Given the description of an element on the screen output the (x, y) to click on. 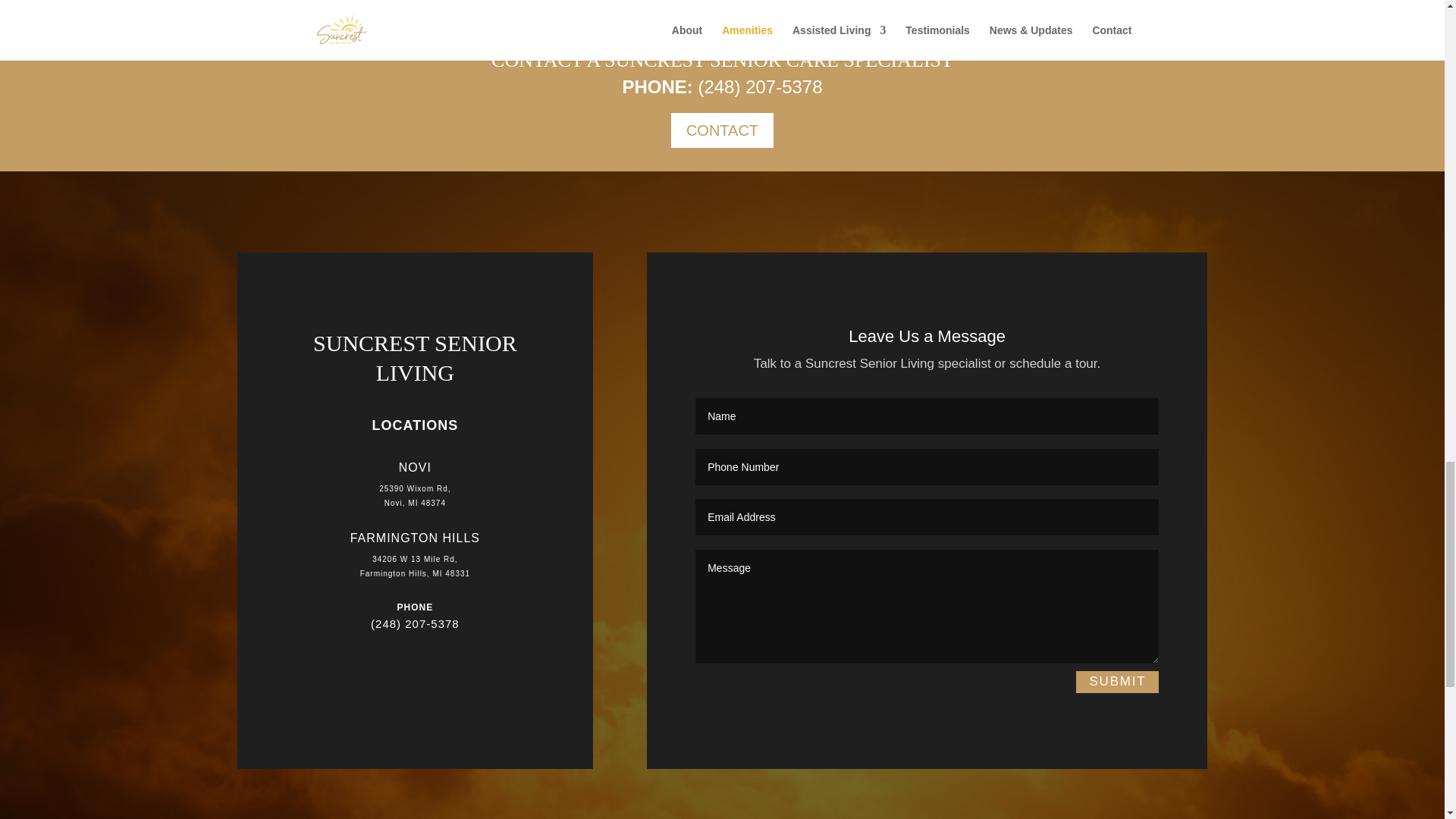
SUBMIT (1116, 681)
CONTACT (721, 130)
